Given the description of an element on the screen output the (x, y) to click on. 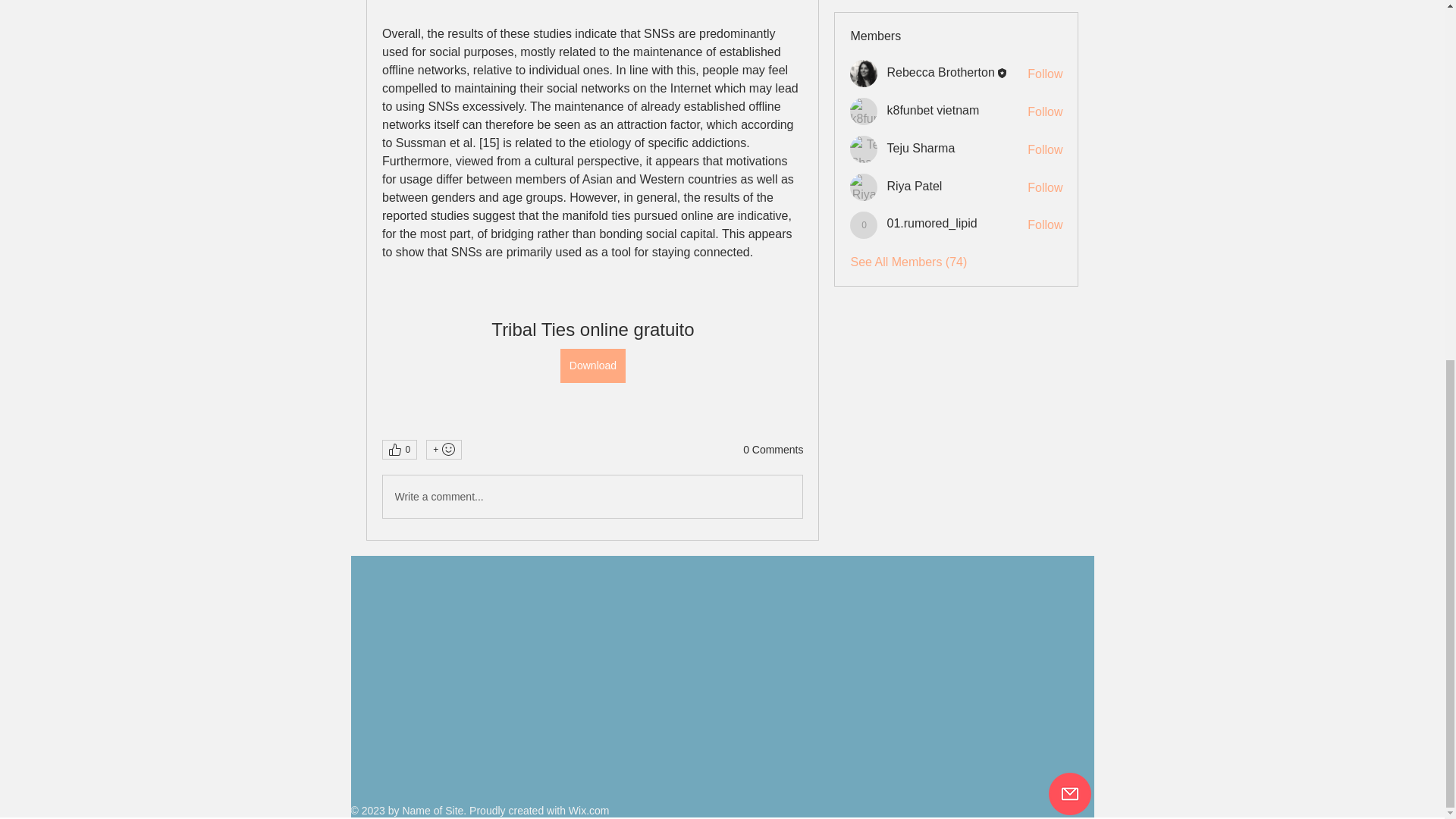
Follow (1044, 149)
k8funbet vietnam (932, 110)
Riya Patel (863, 186)
Follow (1044, 187)
Write a comment... (591, 496)
Download (591, 365)
Follow (1044, 112)
Riya Patel (914, 185)
Rebecca Brotherton (863, 72)
